Given the description of an element on the screen output the (x, y) to click on. 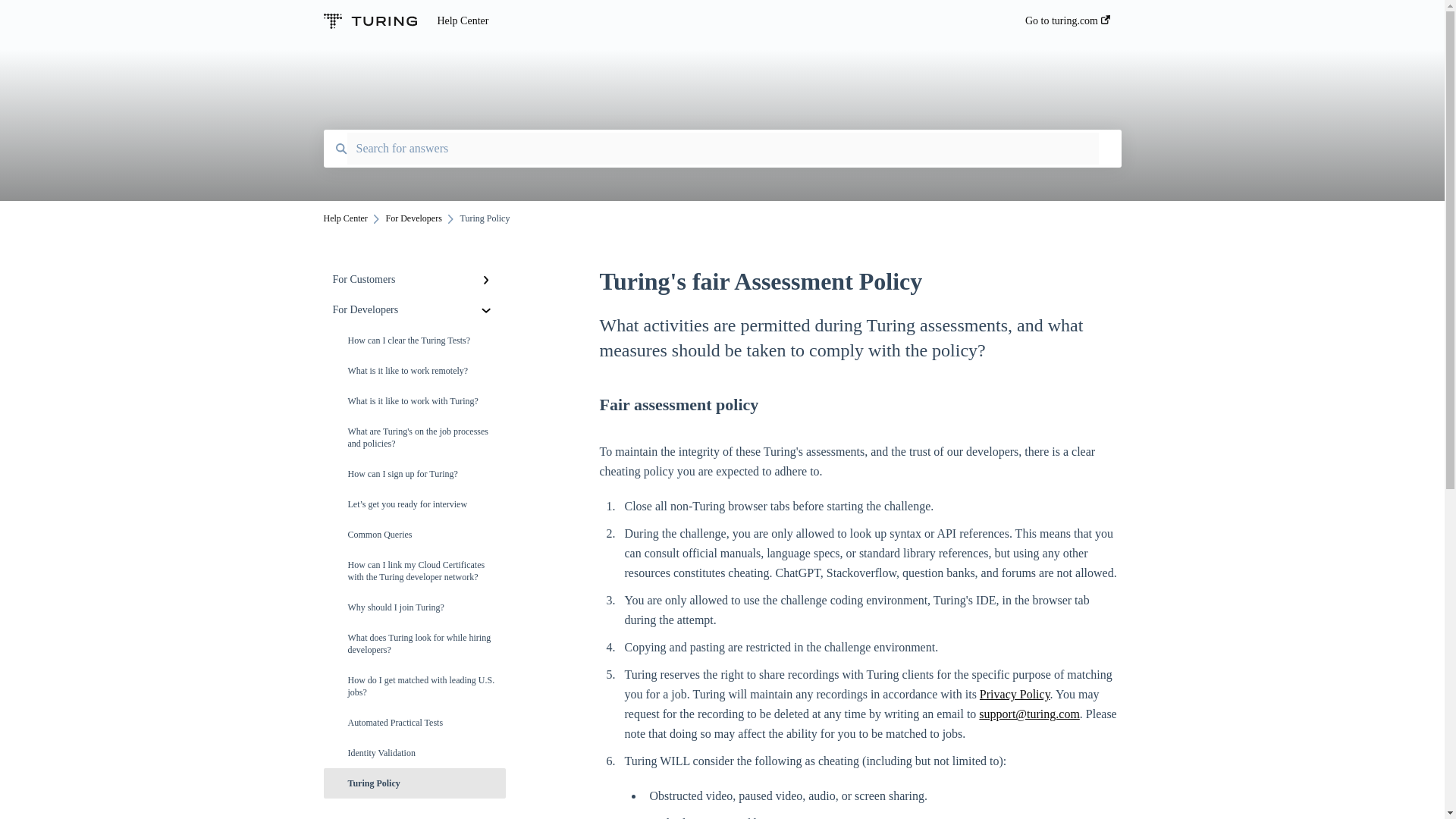
What is it like to work remotely? (414, 370)
How can I clear the Turing Tests? (414, 340)
How can I sign up for Turing? (414, 473)
What is it like to work with Turing? (414, 400)
Go to turing.com (1067, 25)
For Developers (414, 309)
Help Center (344, 217)
Help Center (707, 21)
For Customers (414, 279)
What are Turing's on the job processes and policies? (414, 437)
